Given the description of an element on the screen output the (x, y) to click on. 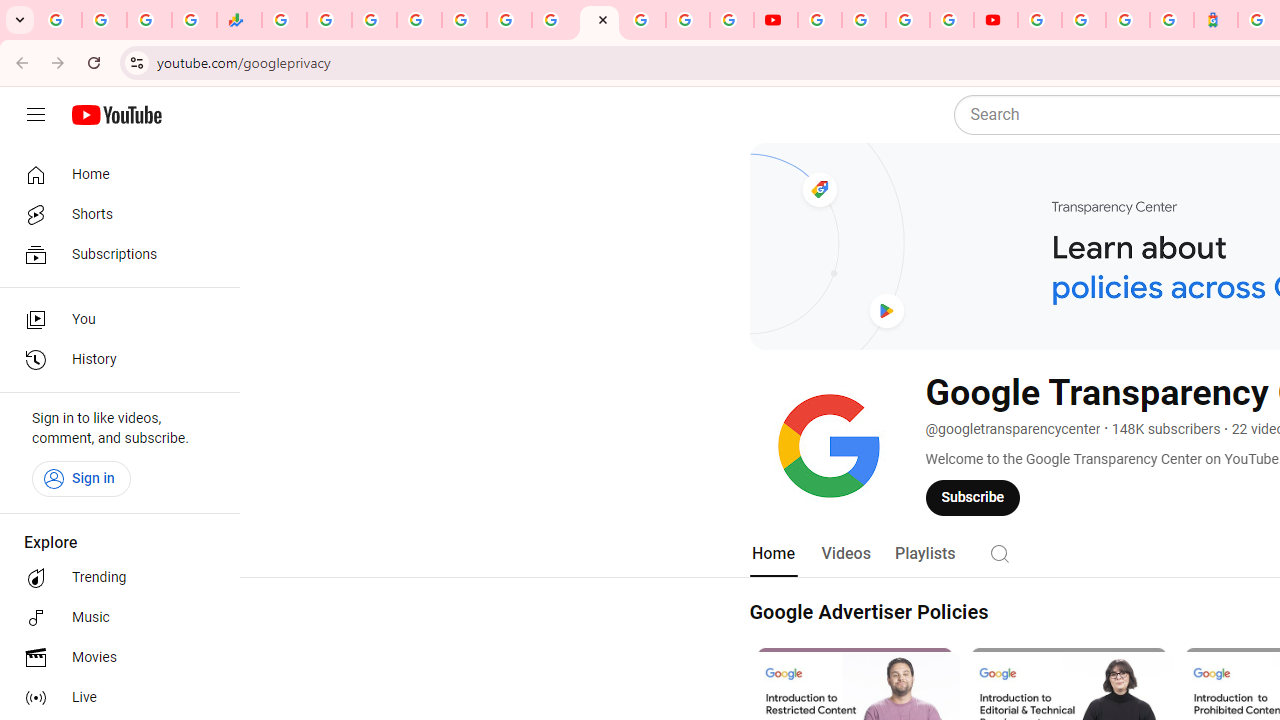
Shorts (113, 214)
YouTube (819, 20)
Google Account Help (863, 20)
Privacy Checkup (731, 20)
Create your Google Account (907, 20)
Google Advertiser Policies (868, 611)
History (113, 359)
Sign in - Google Accounts (1039, 20)
